Given the description of an element on the screen output the (x, y) to click on. 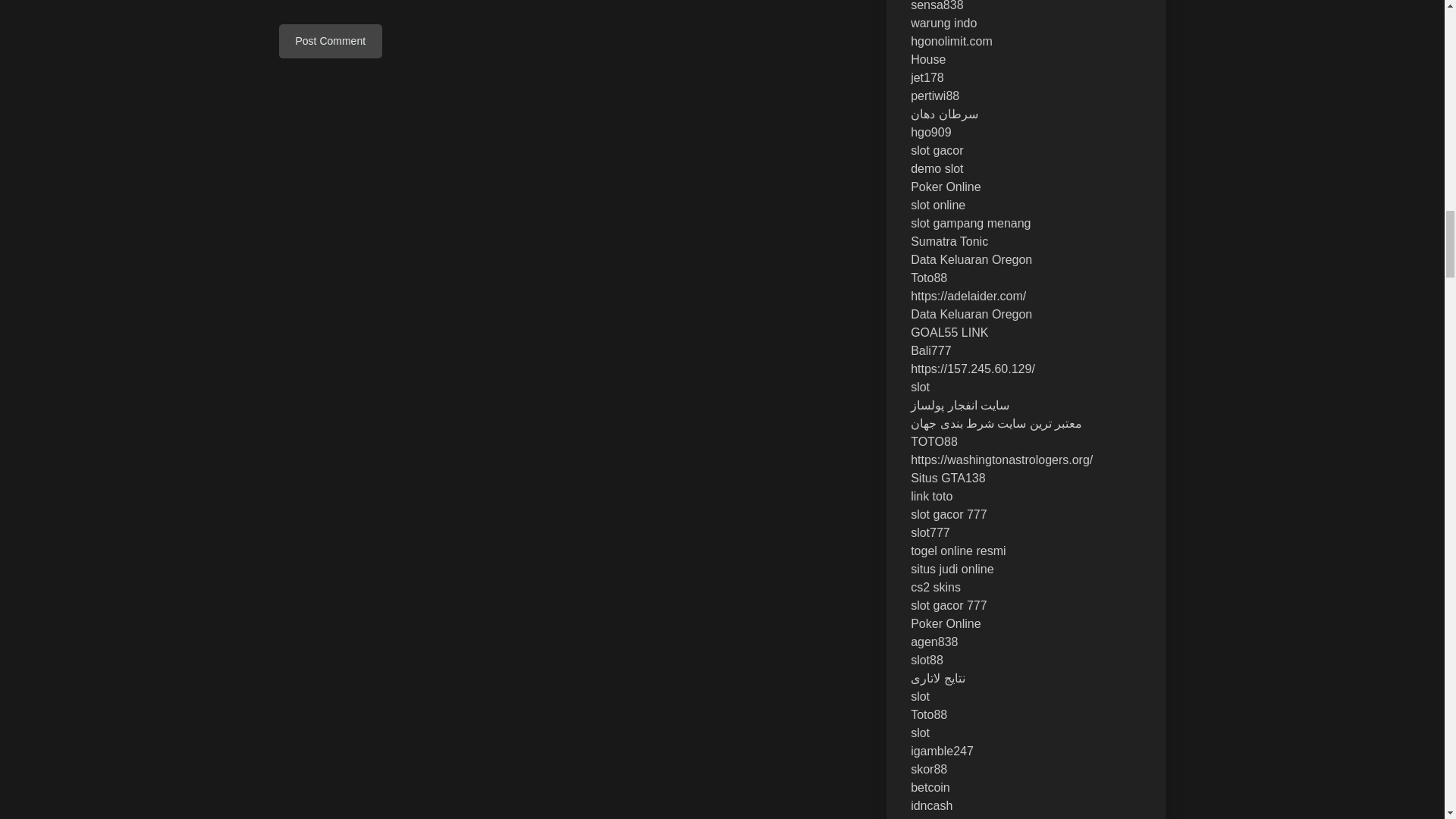
reCAPTCHA (394, 3)
Post Comment (330, 41)
Post Comment (330, 41)
